Given the description of an element on the screen output the (x, y) to click on. 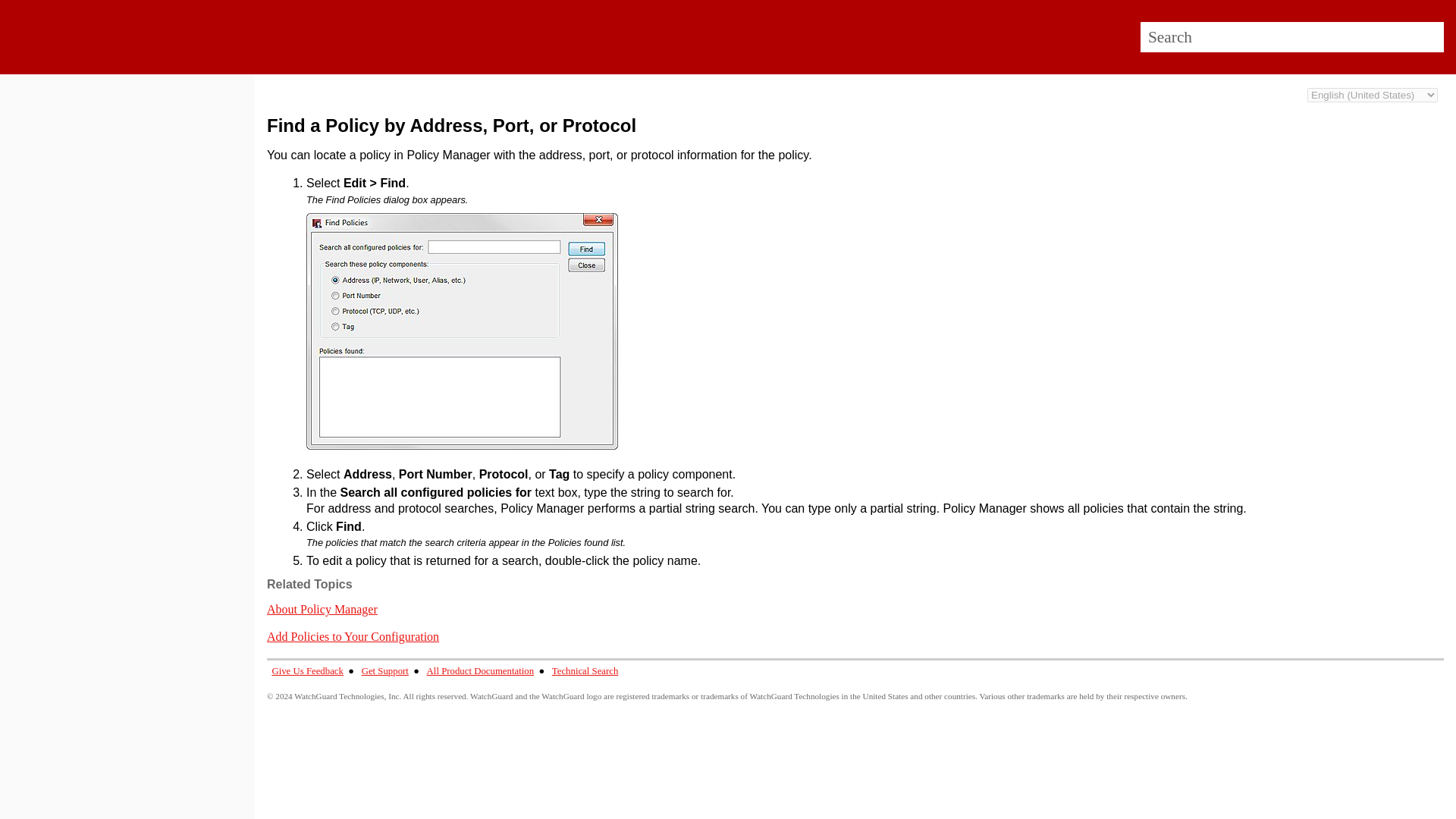
All Product Documentation (480, 670)
Get Support (385, 670)
Search (1430, 37)
Technical Search (584, 670)
Give Us Feedback (306, 670)
Add Policies to Your Configuration (352, 635)
About Policy Manager (321, 608)
